Given the description of an element on the screen output the (x, y) to click on. 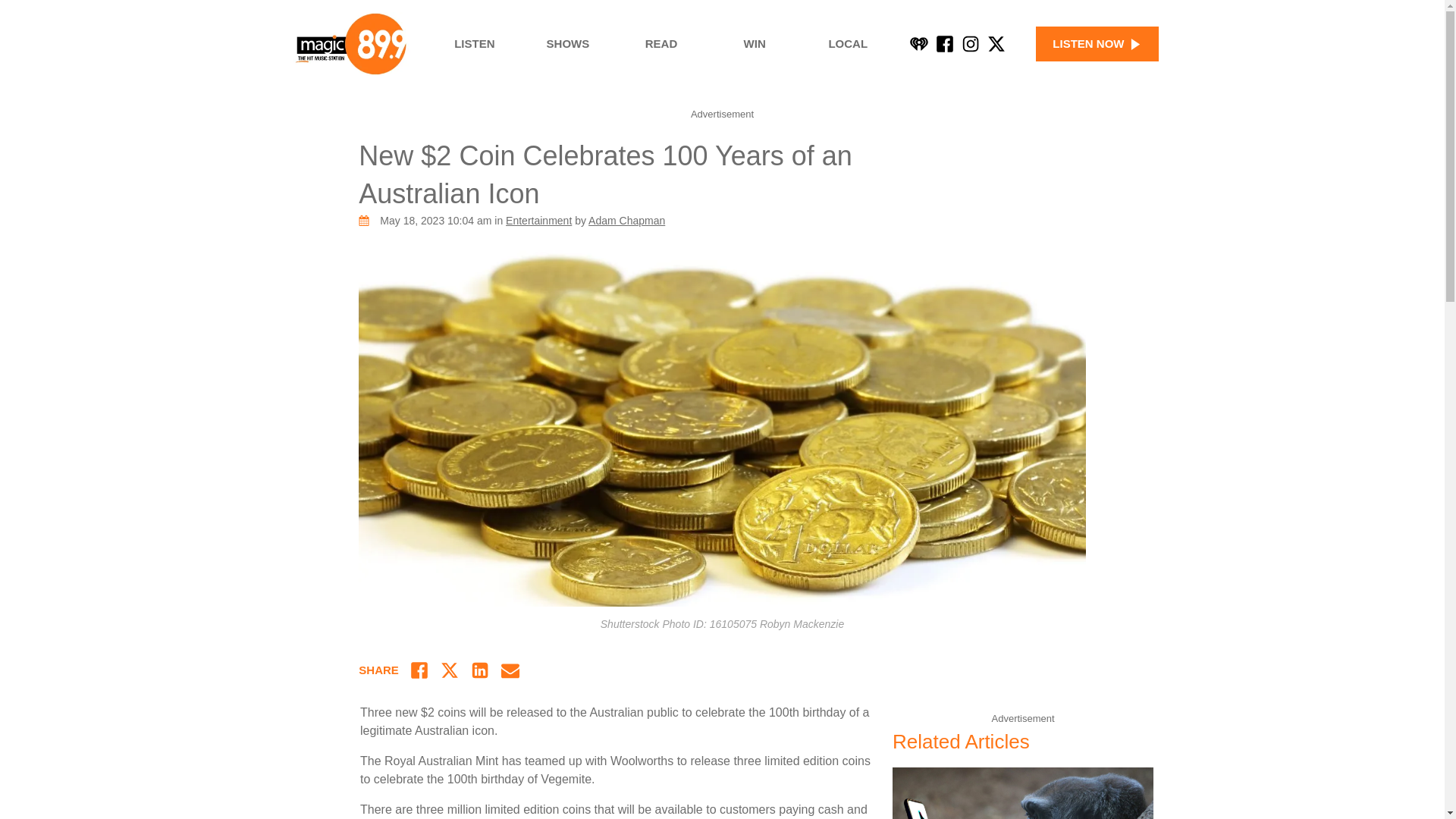
Instagram (969, 44)
SHOWS (567, 43)
LISTEN NOW (1096, 44)
LOCAL (848, 43)
Facebook (944, 44)
WIN (754, 43)
iHeart (919, 44)
Posts by Adam Chapman (626, 220)
READ (660, 43)
LISTEN (474, 43)
